Given the description of an element on the screen output the (x, y) to click on. 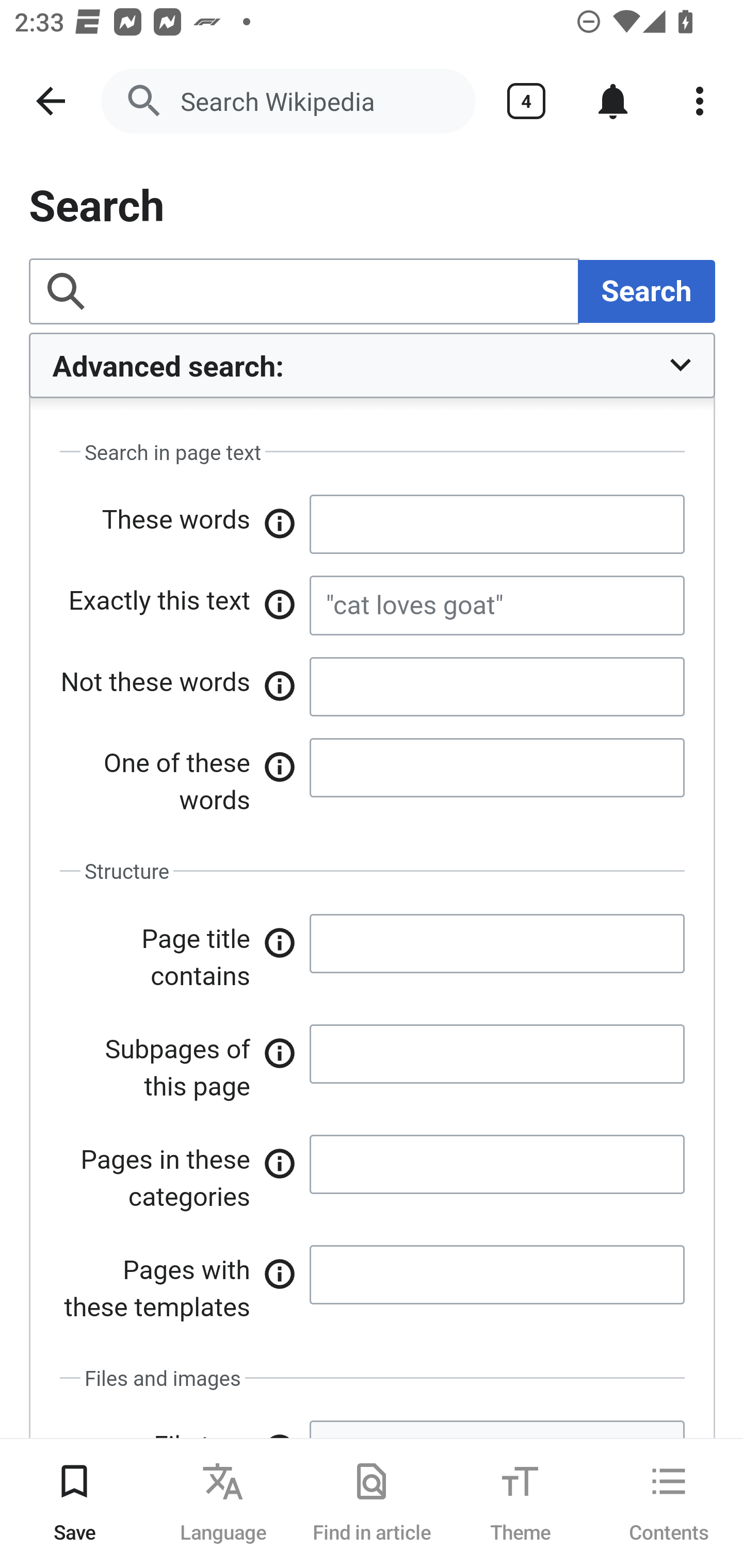
Show tabs 4 (525, 100)
Notifications (612, 100)
Navigate up (50, 101)
More options (699, 101)
Search Wikipedia (288, 100)
Search (372, 911)
Search (645, 290)
Save (74, 1502)
Language (222, 1502)
Find in article (371, 1502)
Theme (519, 1502)
Contents (668, 1502)
